Given the description of an element on the screen output the (x, y) to click on. 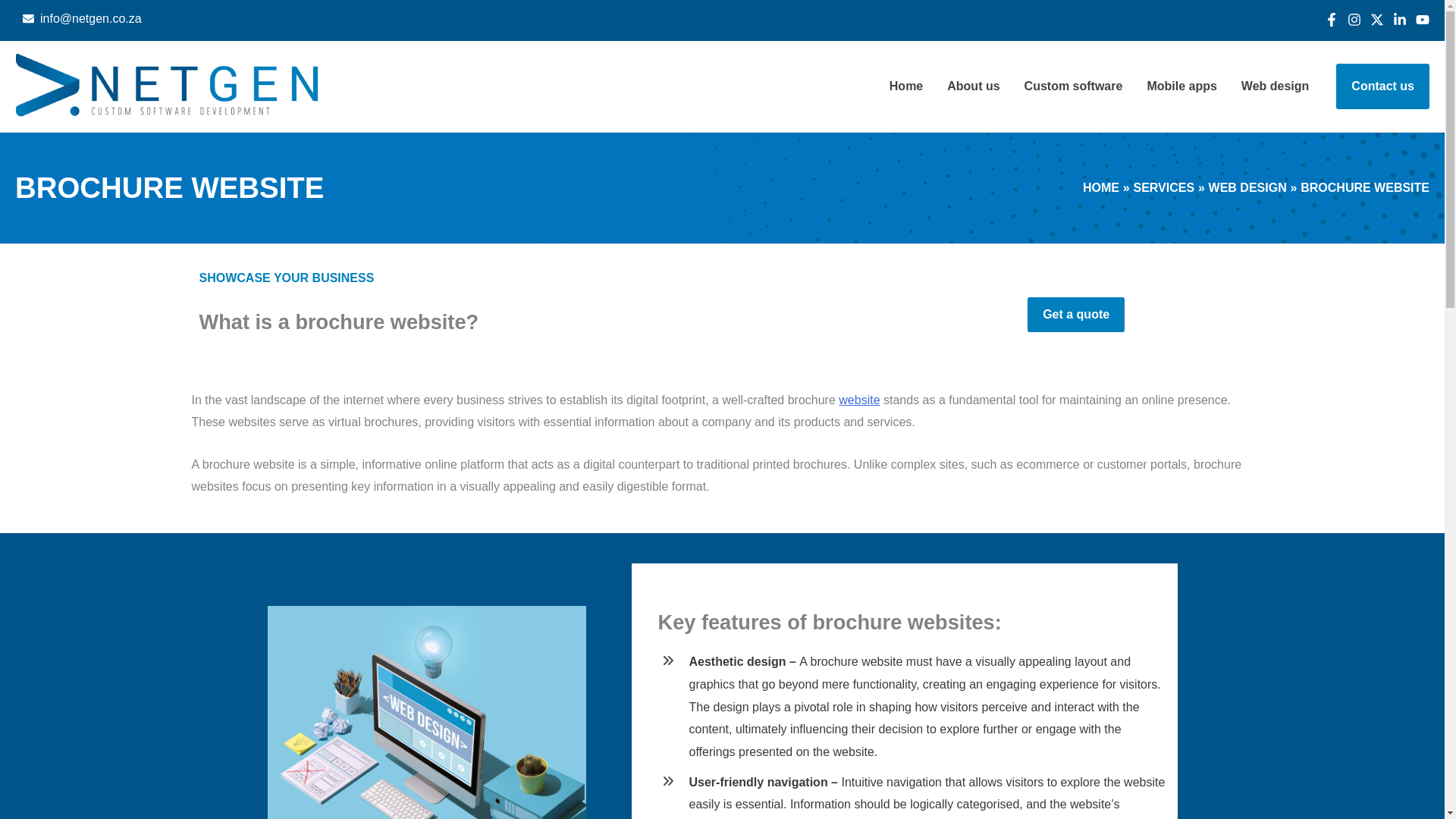
Web design (1275, 86)
Get a quote (1075, 314)
SERVICES (1162, 187)
WEB DESIGN (1247, 187)
Mobile apps (1181, 86)
website (858, 399)
About us (972, 86)
Web design (1275, 86)
Home (905, 86)
Mobile apps (1181, 86)
Custom software (1073, 86)
Contact us (1382, 85)
Custom software (1073, 86)
HOME (1101, 187)
Home (905, 86)
